Given the description of an element on the screen output the (x, y) to click on. 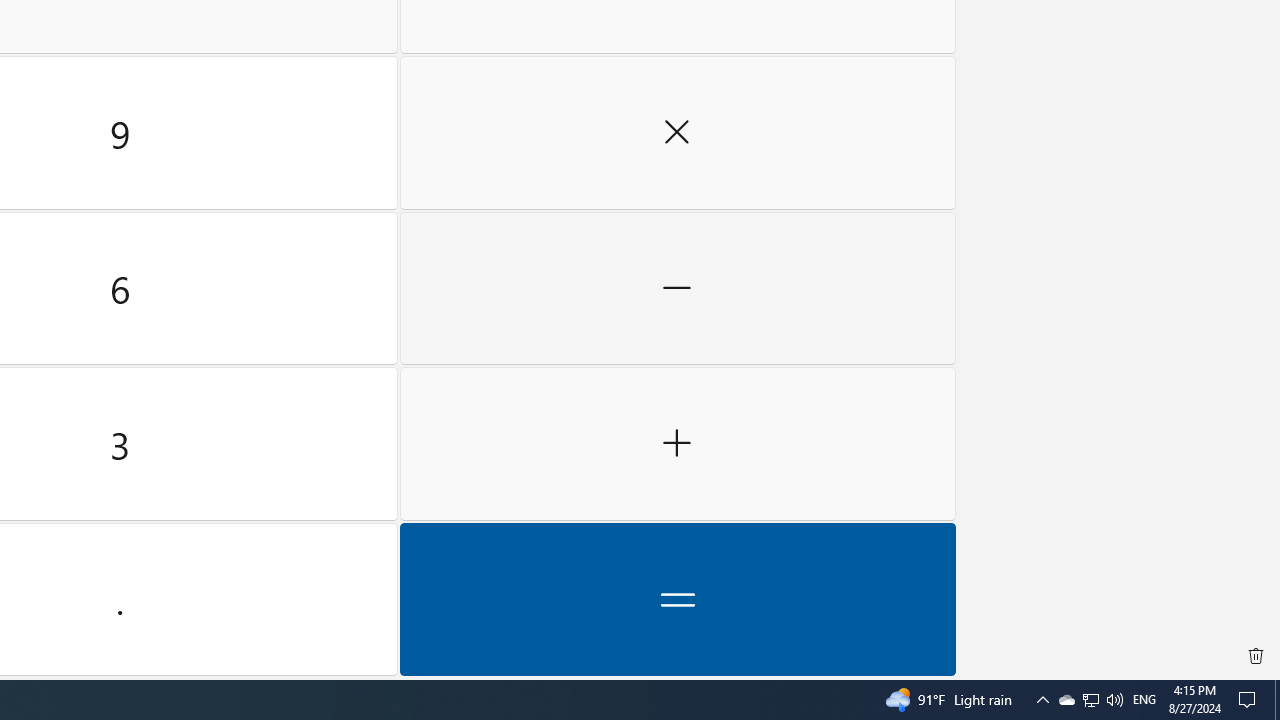
Equals (677, 599)
Clear all history (1256, 655)
Minus (677, 288)
Multiply by (677, 133)
Plus (677, 444)
